Given the description of an element on the screen output the (x, y) to click on. 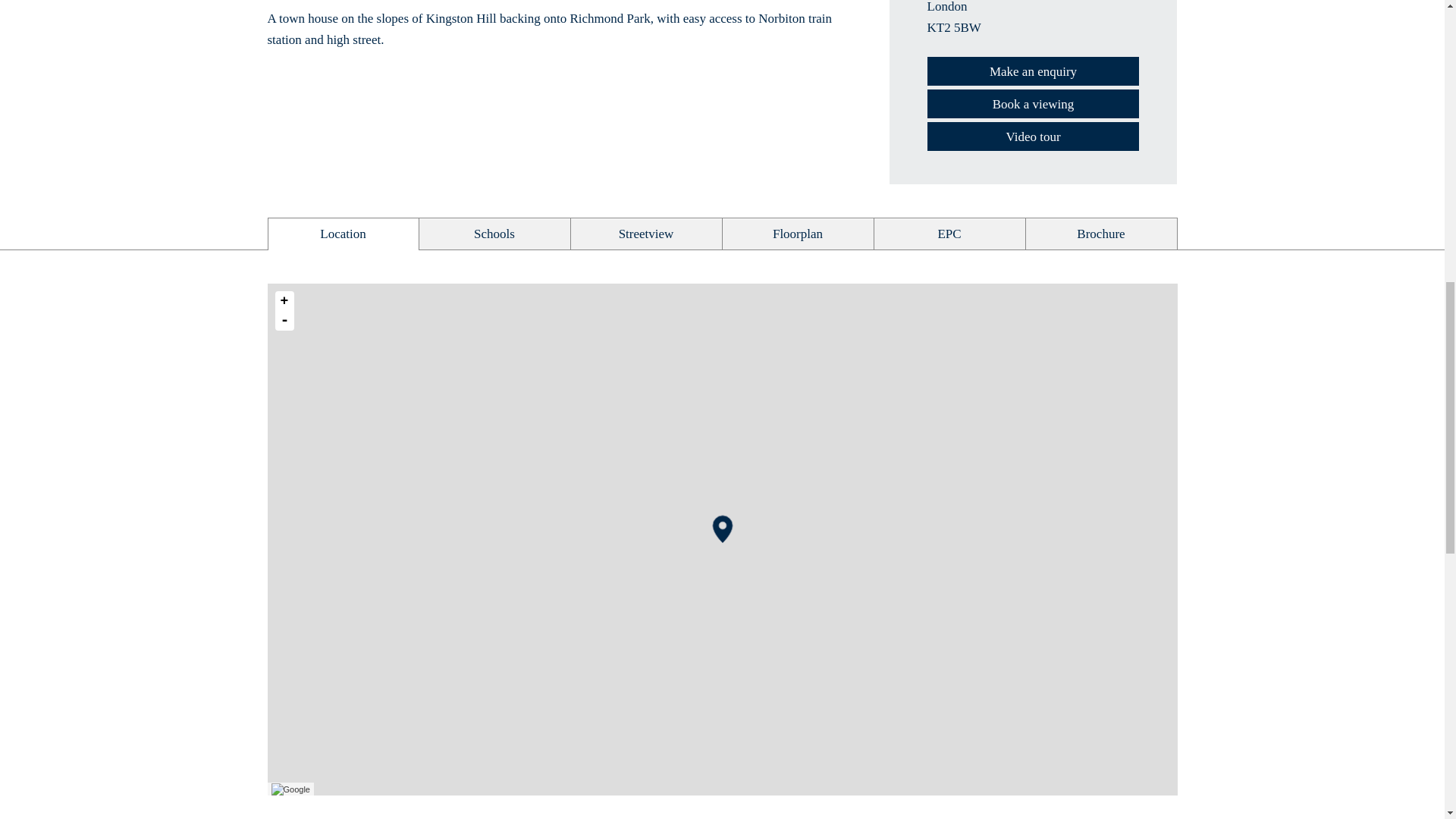
Schools (494, 234)
Property streetview (645, 234)
Book a viewing (1032, 103)
Property location (343, 234)
Video tour (1032, 136)
Nearby schools (494, 234)
Streetview (645, 234)
Floorplan (797, 234)
EPC (949, 234)
Property floorplan (797, 234)
Location (343, 234)
Make an enquiry (1032, 70)
